Given the description of an element on the screen output the (x, y) to click on. 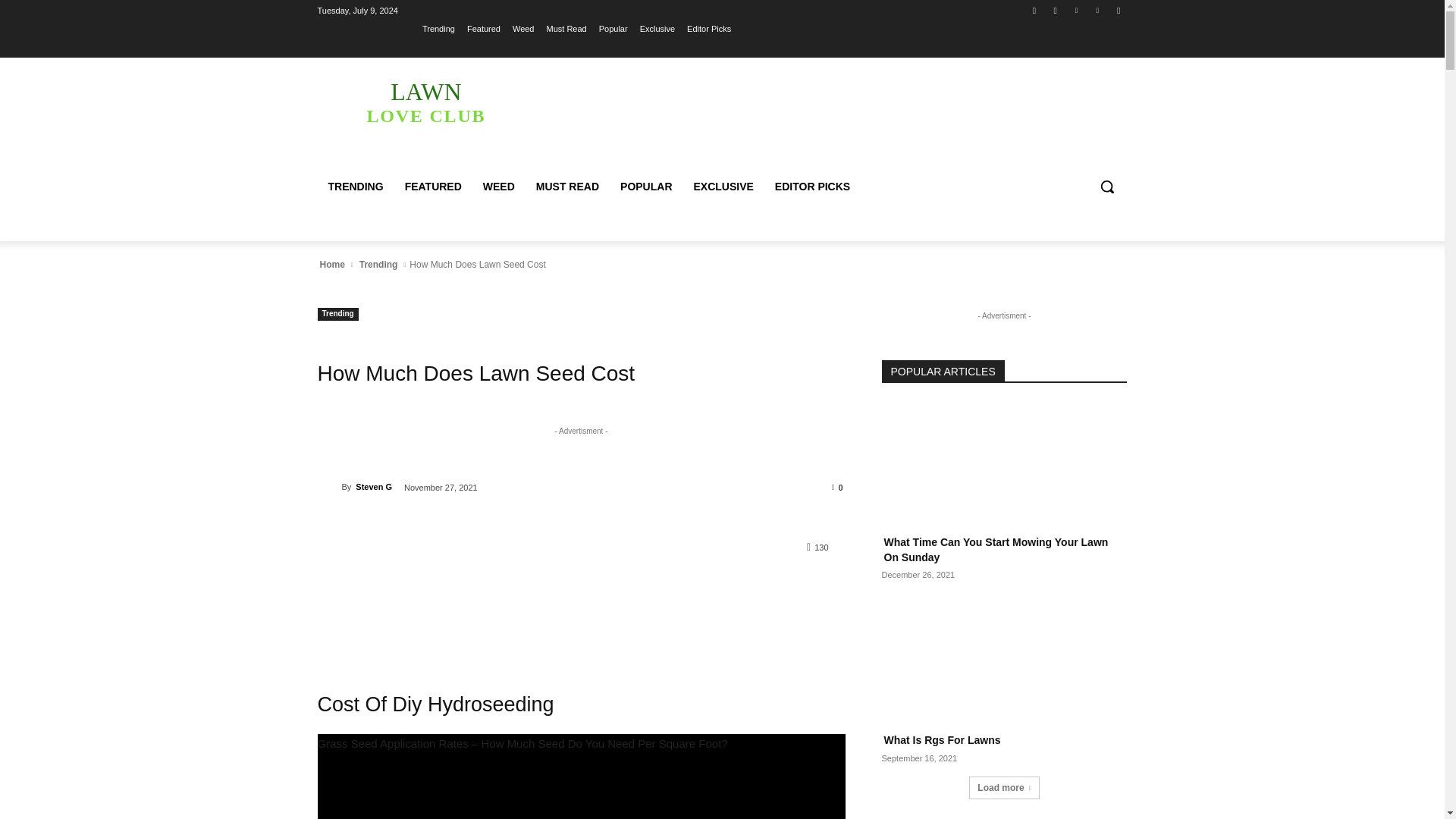
FEATURED (432, 186)
Youtube (1117, 9)
POPULAR (646, 186)
TRENDING (355, 186)
Trending (438, 28)
View all posts in Trending (378, 264)
Facebook (1034, 9)
Exclusive (657, 28)
Weed (523, 28)
Home (331, 264)
Popular (612, 28)
WEED (498, 186)
Vimeo (425, 101)
EDITOR PICKS (1097, 9)
